Given the description of an element on the screen output the (x, y) to click on. 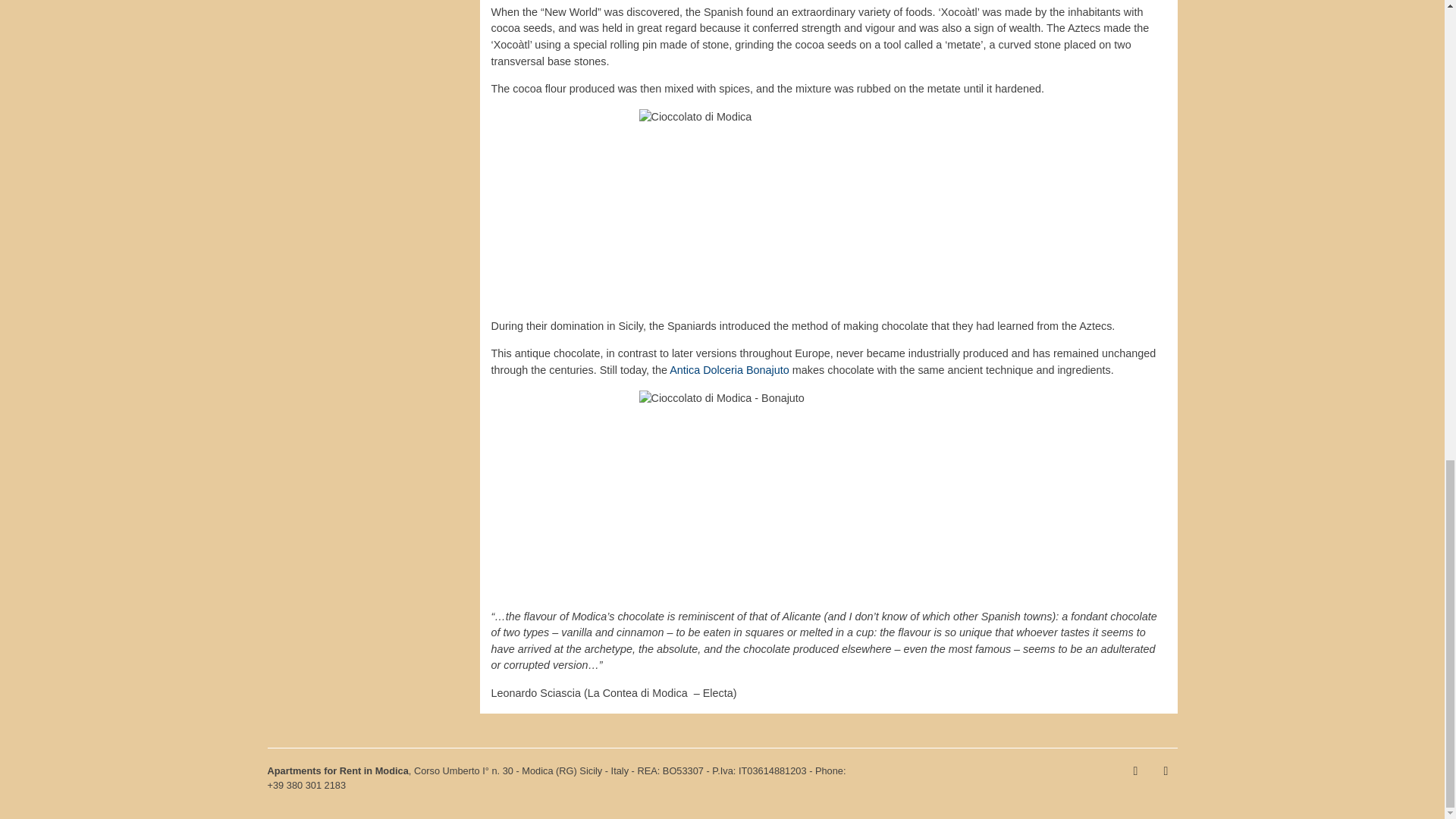
Facebook (1135, 771)
Email (1165, 771)
Antica Dolceria Bonajuto (729, 369)
Email (1165, 771)
Facebook (1135, 771)
Antica Dolceria Bonajuto (729, 369)
